Given the description of an element on the screen output the (x, y) to click on. 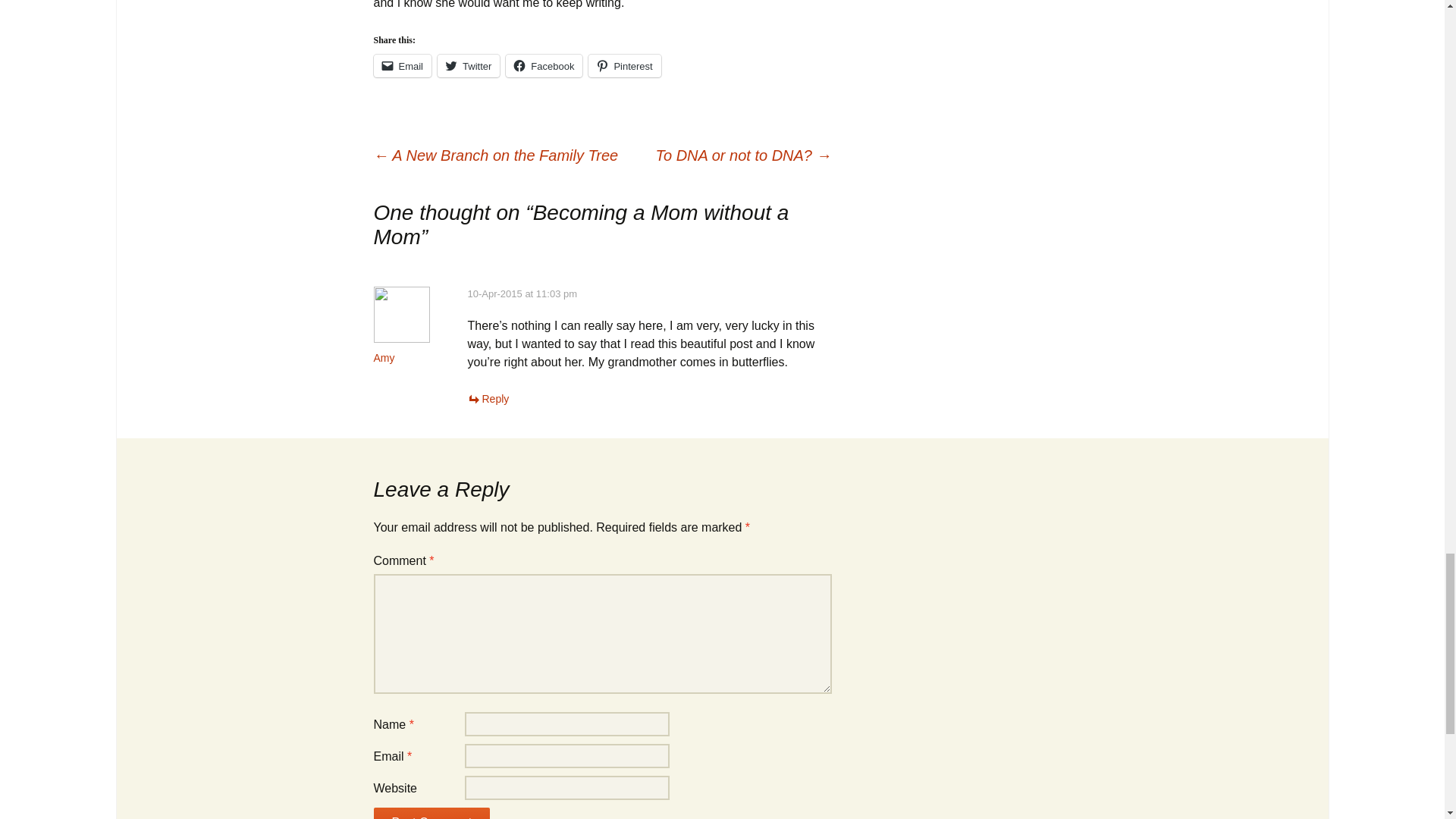
Pinterest (624, 65)
Twitter (468, 65)
Reply (487, 398)
Amy (383, 357)
Email (401, 65)
Click to share on Pinterest (624, 65)
10-Apr-2015 at 11:03 pm (521, 293)
Click to email a link to a friend (401, 65)
Post Comment (430, 813)
Facebook (543, 65)
